Given the description of an element on the screen output the (x, y) to click on. 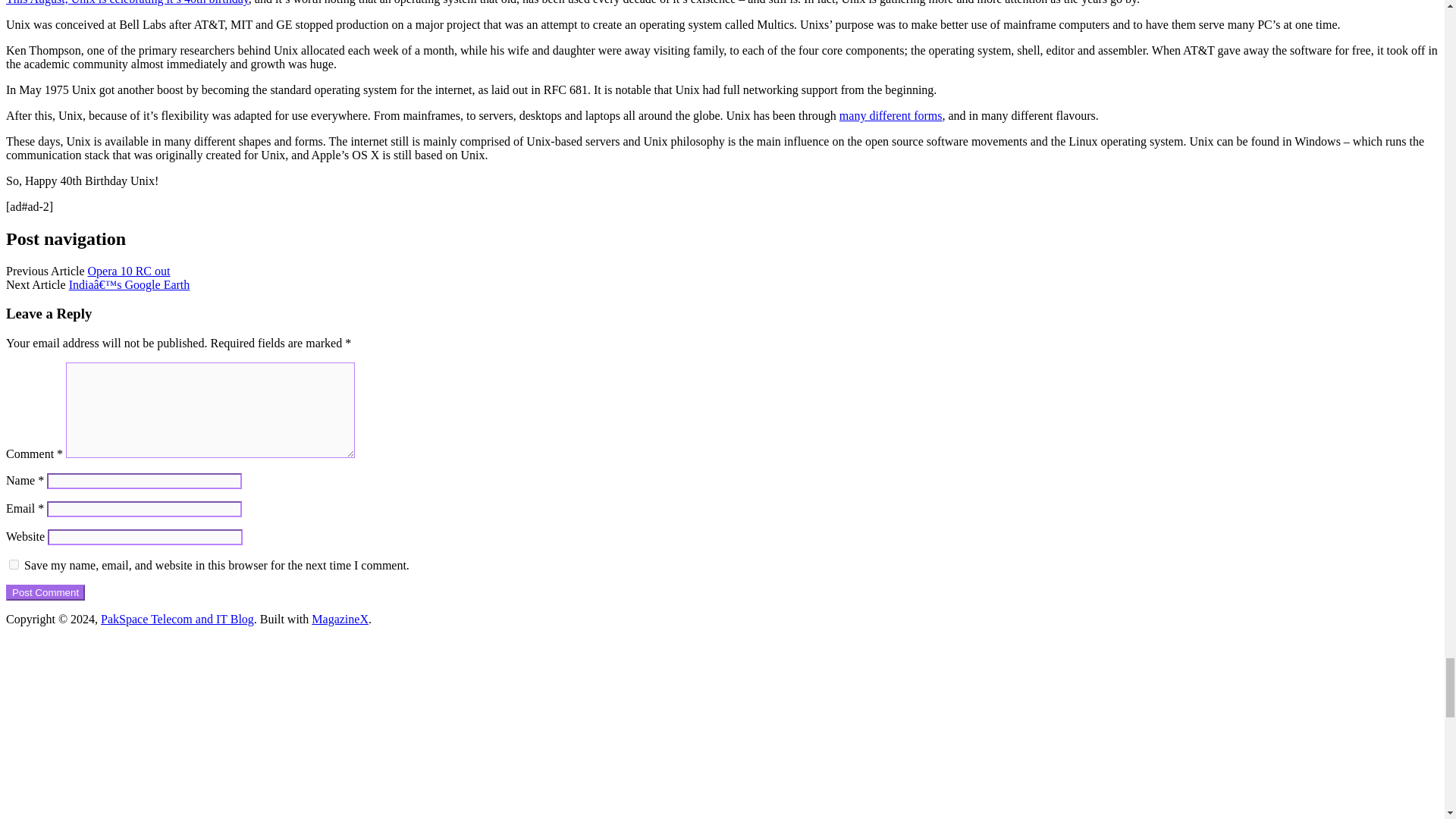
many different forms (891, 115)
MagazineX (339, 618)
yes (13, 564)
Post Comment (44, 592)
PakSpace Telecom and IT Blog (176, 618)
Post Comment (44, 592)
PakSpace Telecom and IT Blog (176, 618)
MagazineX (339, 618)
Opera 10 RC out (128, 270)
